Given the description of an element on the screen output the (x, y) to click on. 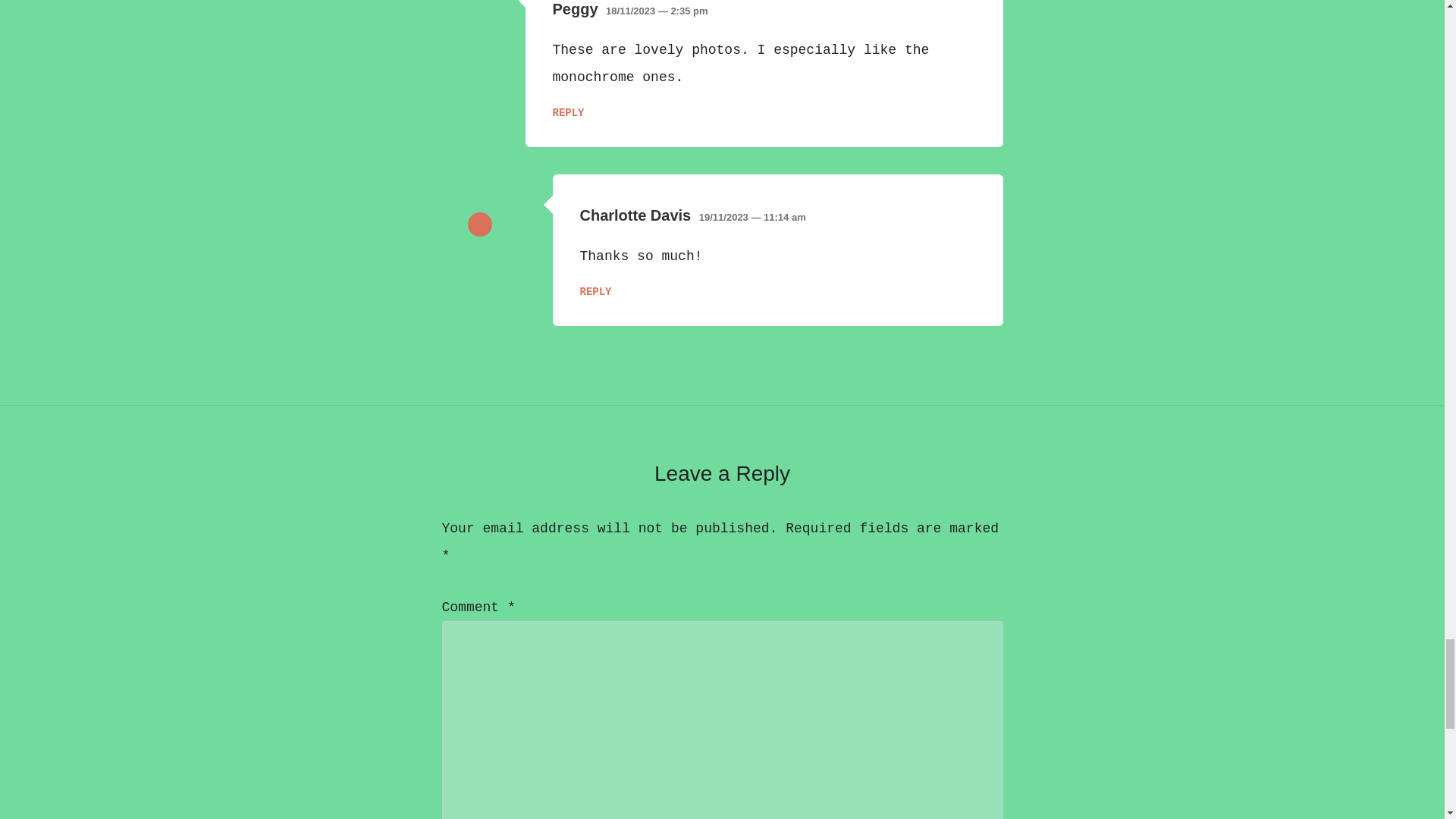
REPLY (567, 112)
Comment by post author (479, 224)
REPLY (595, 291)
Peggy (573, 8)
